Given the description of an element on the screen output the (x, y) to click on. 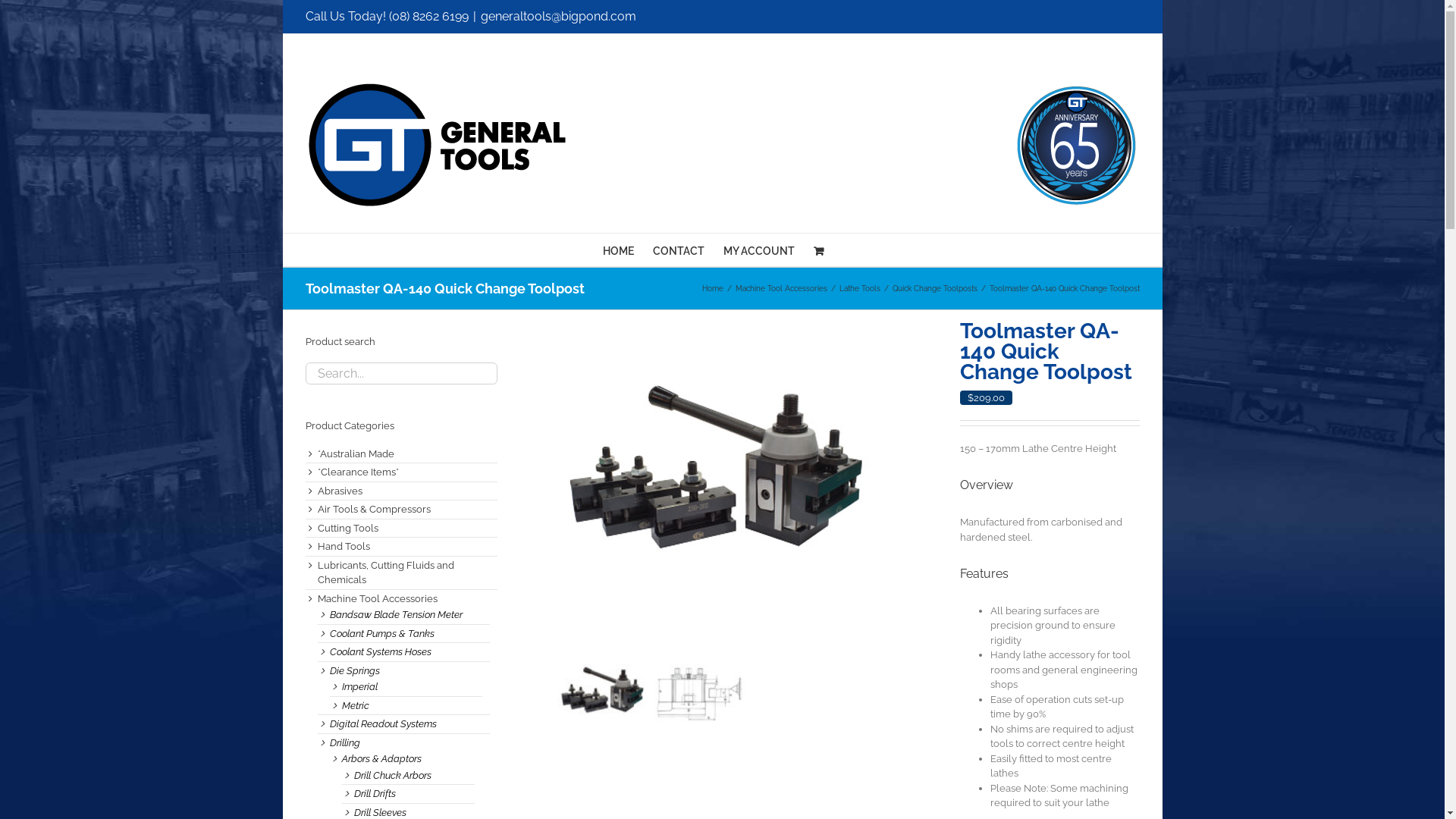
Lubricants, Cutting Fluids and Chemicals Element type: text (384, 572)
Drilling Element type: text (344, 742)
HOME Element type: text (617, 249)
Machine Tool Accessories Element type: text (781, 288)
Abrasives Element type: text (338, 490)
CONTACT Element type: text (677, 249)
Log In Element type: text (822, 377)
Machine Tool Accessories Element type: text (376, 598)
Hand Tools Element type: text (342, 546)
Drill Sleeves Element type: text (379, 812)
Die Springs Element type: text (354, 670)
Cutting Tools Element type: text (346, 527)
Coolant Systems Hoses Element type: text (379, 651)
Digital Readout Systems Element type: text (382, 723)
QA-140 Element type: hover (719, 482)
Drill Drifts Element type: text (374, 793)
generaltools@bigpond.com Element type: text (558, 16)
Imperial Element type: text (358, 686)
Quick Change Toolposts Element type: text (933, 288)
Arbors & Adaptors Element type: text (380, 758)
QA-140 Element type: hover (747, 482)
Metric Element type: text (354, 705)
Coolant Pumps & Tanks Element type: text (381, 633)
Lathe Tools Element type: text (858, 288)
Home Element type: text (712, 288)
MY ACCOUNT Element type: text (758, 249)
*Clearance Items* Element type: text (357, 471)
Bandsaw Blade Tension Meter Element type: text (395, 614)
Air Tools & Compressors Element type: text (372, 508)
*Australian Made Element type: text (354, 453)
Drill Chuck Arbors Element type: text (391, 775)
